Given the description of an element on the screen output the (x, y) to click on. 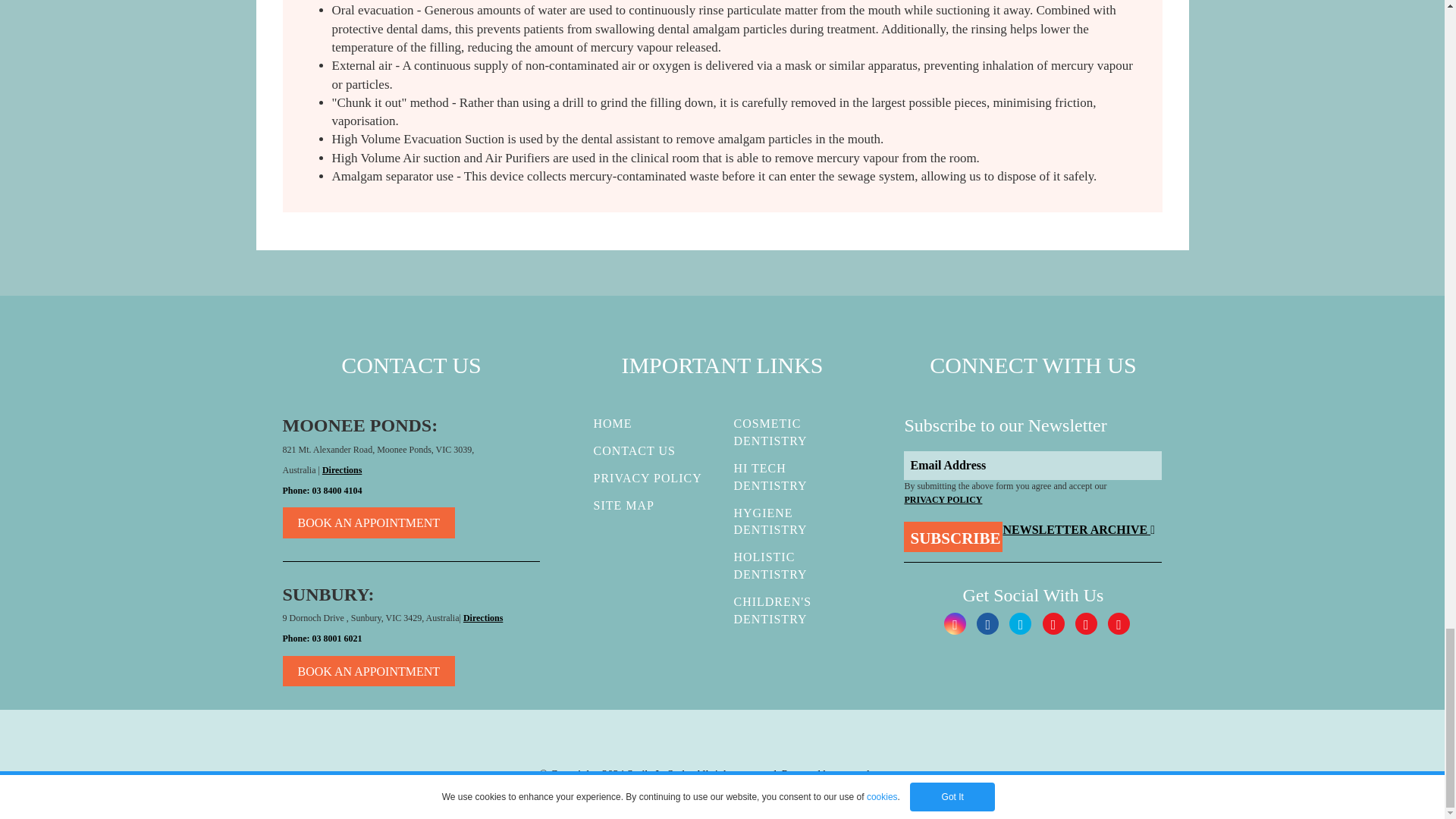
Subscribe (953, 536)
